Given the description of an element on the screen output the (x, y) to click on. 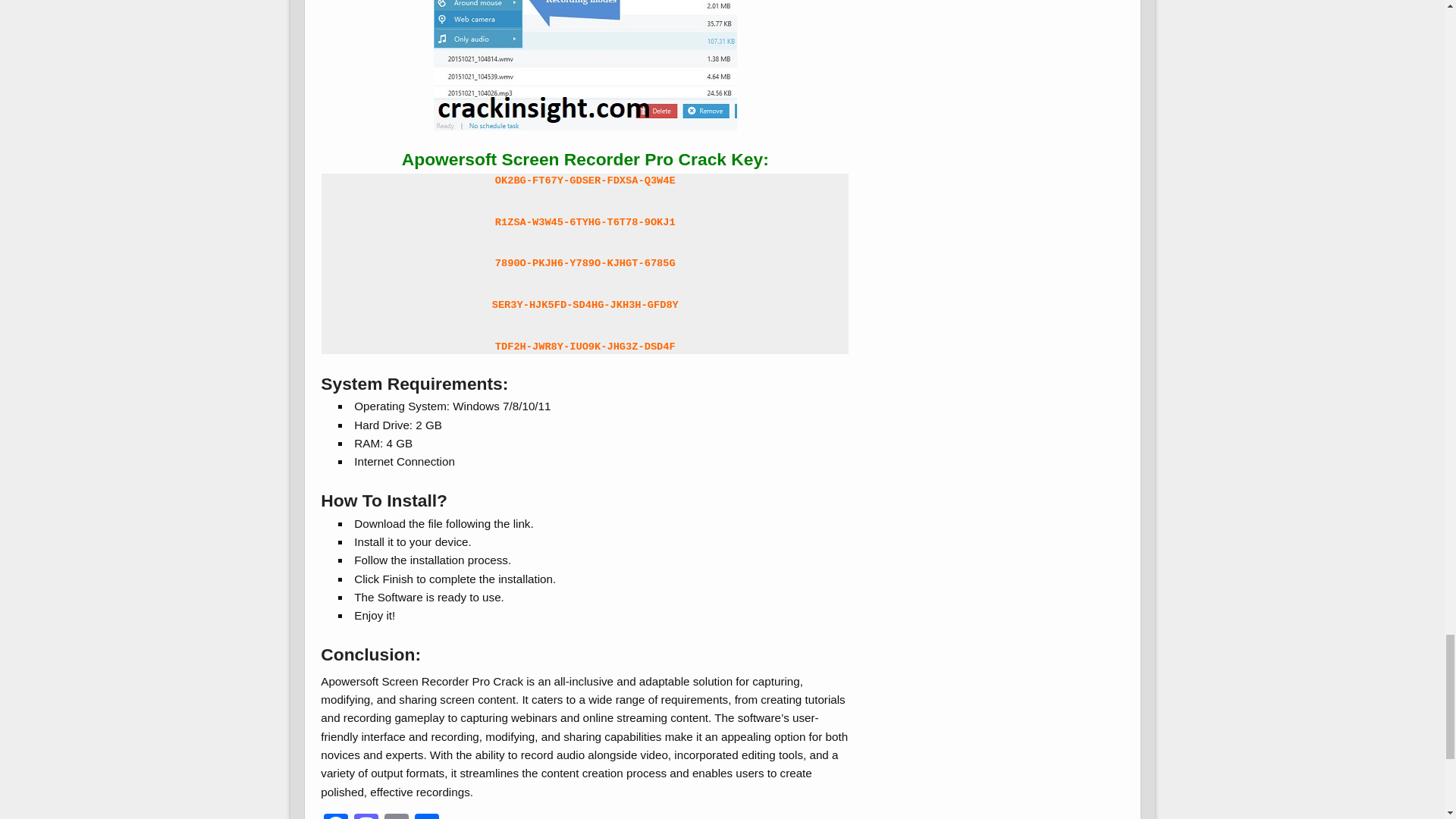
Email (396, 816)
Mastodon (365, 816)
Facebook (335, 816)
Mastodon (365, 816)
Facebook (335, 816)
Email (396, 816)
